Given the description of an element on the screen output the (x, y) to click on. 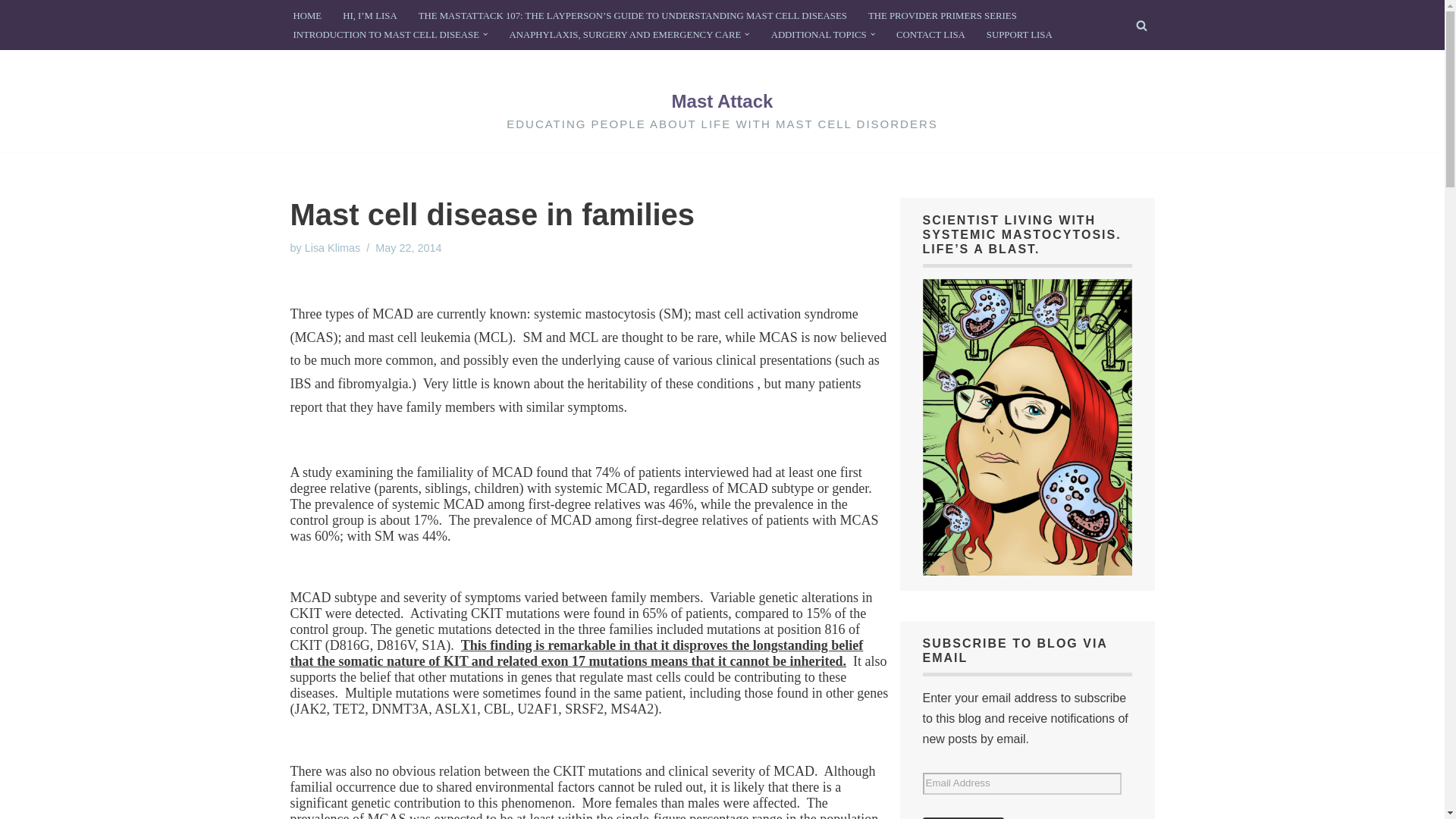
CONTACT LISA (930, 34)
Posts by Lisa Klimas (332, 247)
ANAPHYLAXIS, SURGERY AND EMERGENCY CARE (624, 34)
ADDITIONAL TOPICS (818, 34)
THE PROVIDER PRIMERS SERIES (941, 15)
SUPPORT LISA (1019, 34)
INTRODUCTION TO MAST CELL DISEASE (385, 34)
HOME (306, 15)
Skip to content (11, 31)
